Given the description of an element on the screen output the (x, y) to click on. 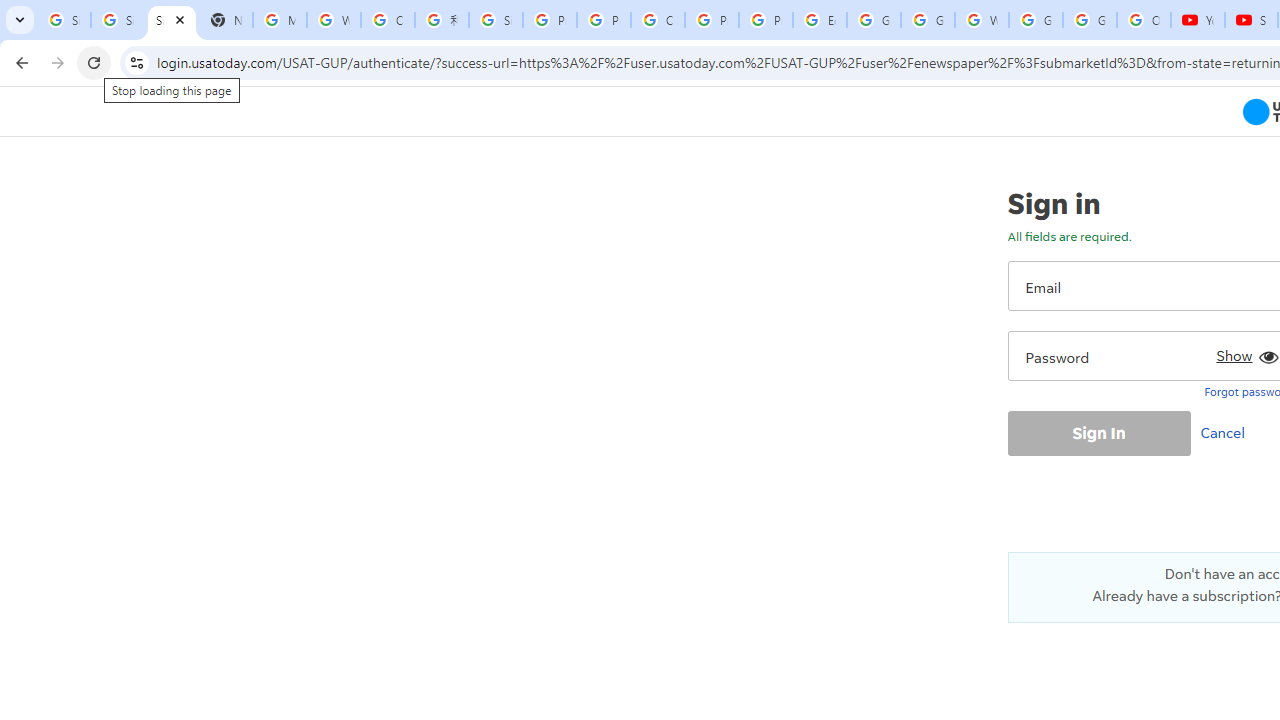
Cancel (1227, 431)
Sign in - Google Accounts (495, 20)
Welcome to My Activity (981, 20)
Create your Google Account (657, 20)
New Tab (225, 20)
